Given the description of an element on the screen output the (x, y) to click on. 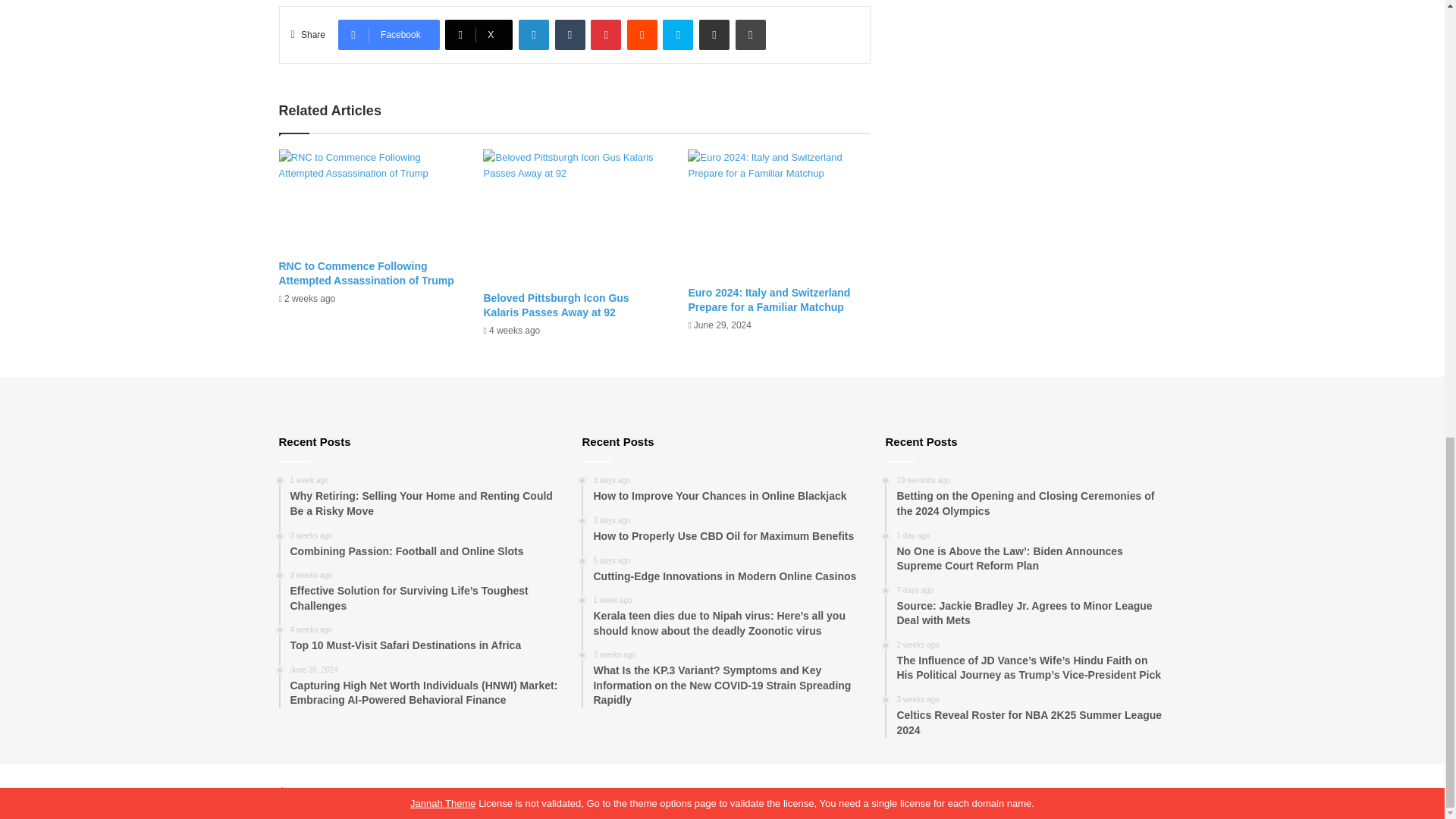
Facebook (388, 34)
RNC to Commence Following Attempted Assassination of Trump (366, 273)
X (478, 34)
Skype (677, 34)
X (478, 34)
Pinterest (606, 34)
Print (750, 34)
Facebook (388, 34)
Beloved Pittsburgh Icon Gus Kalaris Passes Away at 92 (555, 304)
Tumblr (569, 34)
Share via Email (713, 34)
LinkedIn (533, 34)
Reddit (642, 34)
Pinterest (606, 34)
